Given the description of an element on the screen output the (x, y) to click on. 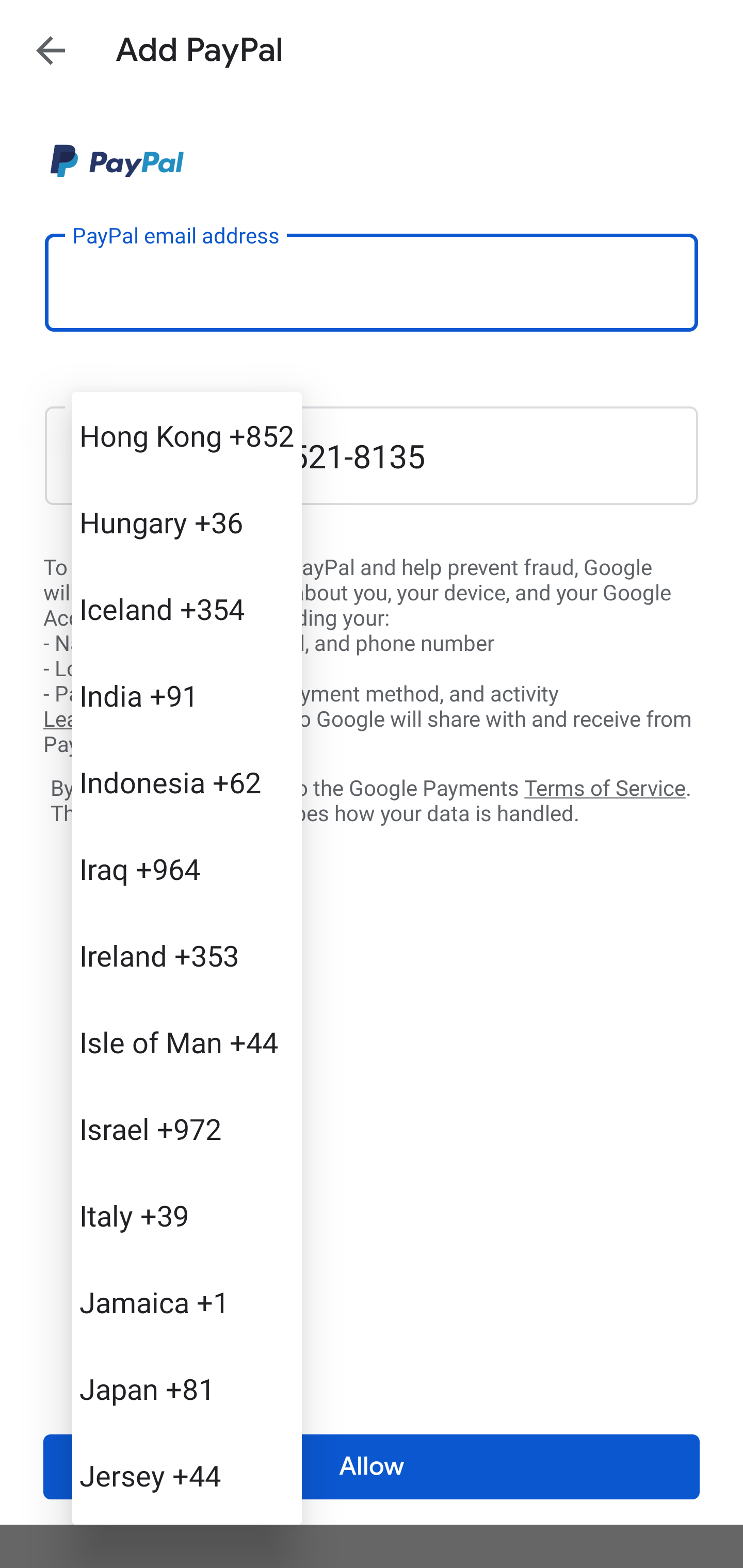
Hong Kong +852 (186, 435)
Hungary +36 (186, 522)
Iceland +354 (186, 609)
India +91 (186, 695)
Indonesia +62 (186, 781)
Iraq +964 (186, 868)
Ireland +353 (186, 955)
Isle of Man +44 (186, 1041)
Israel +972 (186, 1128)
Italy +39 (186, 1215)
Jamaica +1 (186, 1302)
Japan +81 (186, 1388)
Jersey +44 (186, 1474)
